Given the description of an element on the screen output the (x, y) to click on. 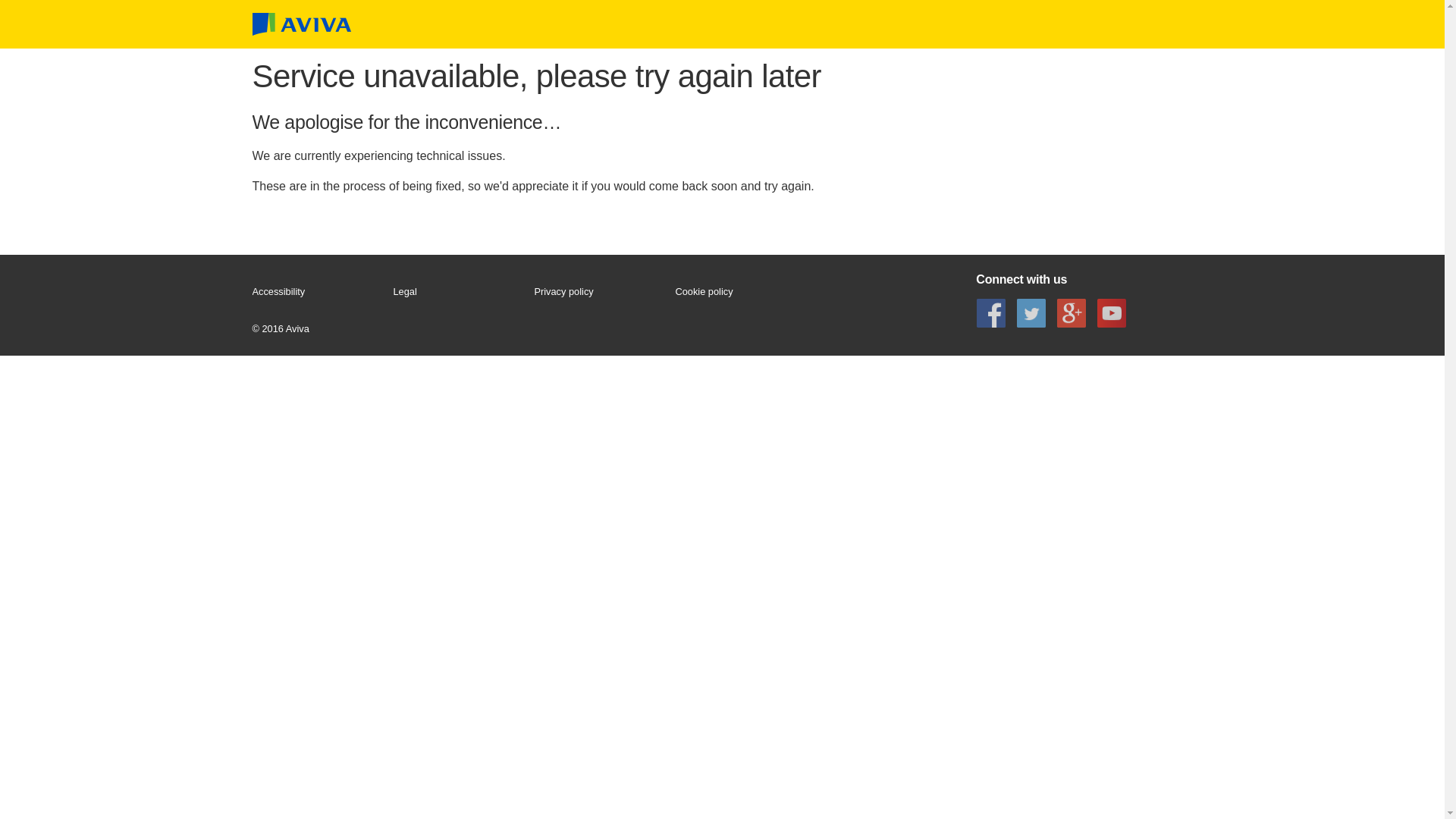
Cookie policy Element type: text (737, 291)
Facebook Element type: text (989, 312)
Privacy policy Element type: text (596, 291)
Twitter Element type: text (1030, 312)
YouTube Element type: text (1111, 312)
Accessibility Element type: text (314, 291)
Google+ Element type: text (1071, 312)
Aviva Element type: text (300, 23)
Legal Element type: text (455, 291)
